Given the description of an element on the screen output the (x, y) to click on. 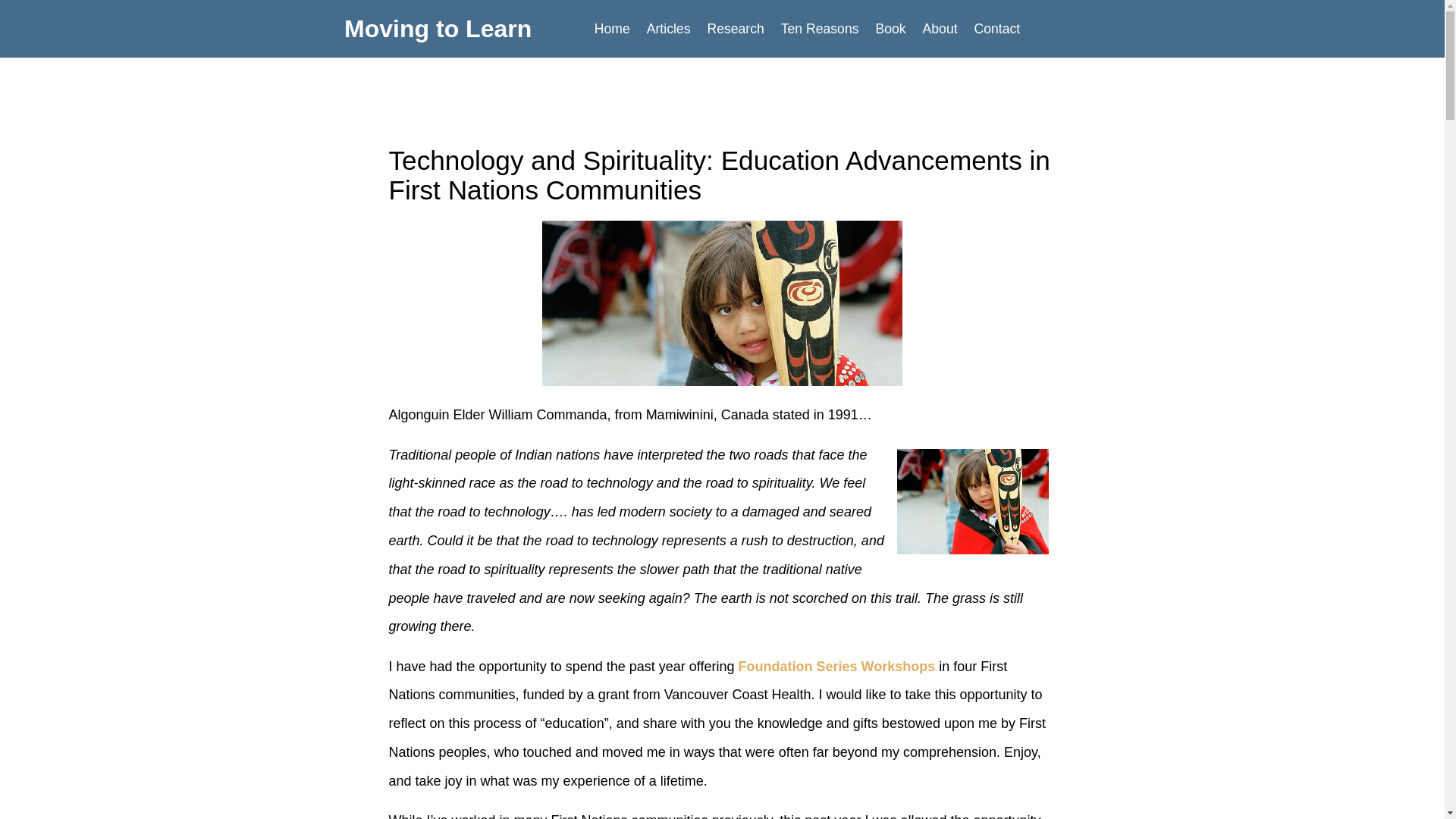
Ten Reasons (820, 28)
Home (612, 28)
Research (734, 28)
Contact (997, 28)
About (940, 28)
Foundation Series Workshops (837, 666)
Moving to Learn (437, 28)
Book (890, 28)
Research (734, 28)
Articles (668, 28)
